Given the description of an element on the screen output the (x, y) to click on. 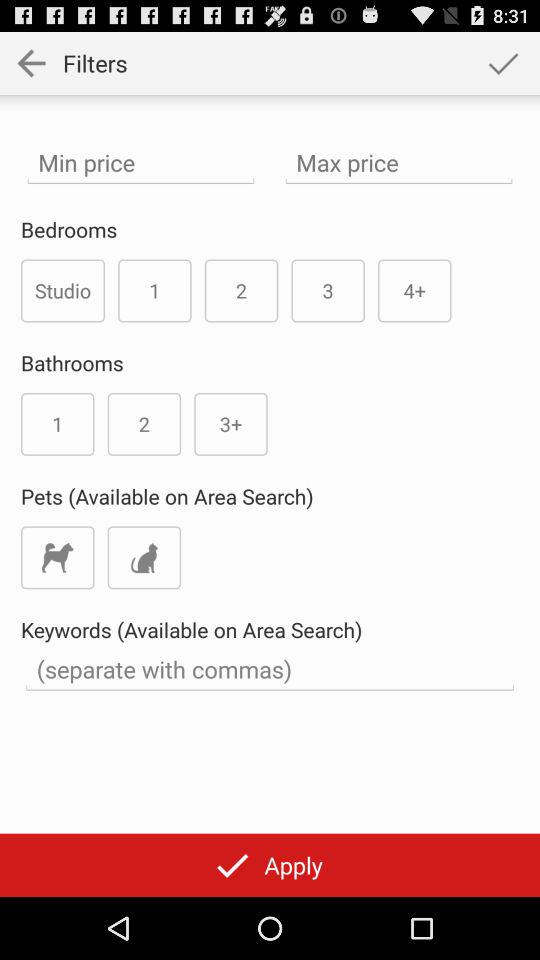
launch item to the left of the 1 icon (63, 290)
